Given the description of an element on the screen output the (x, y) to click on. 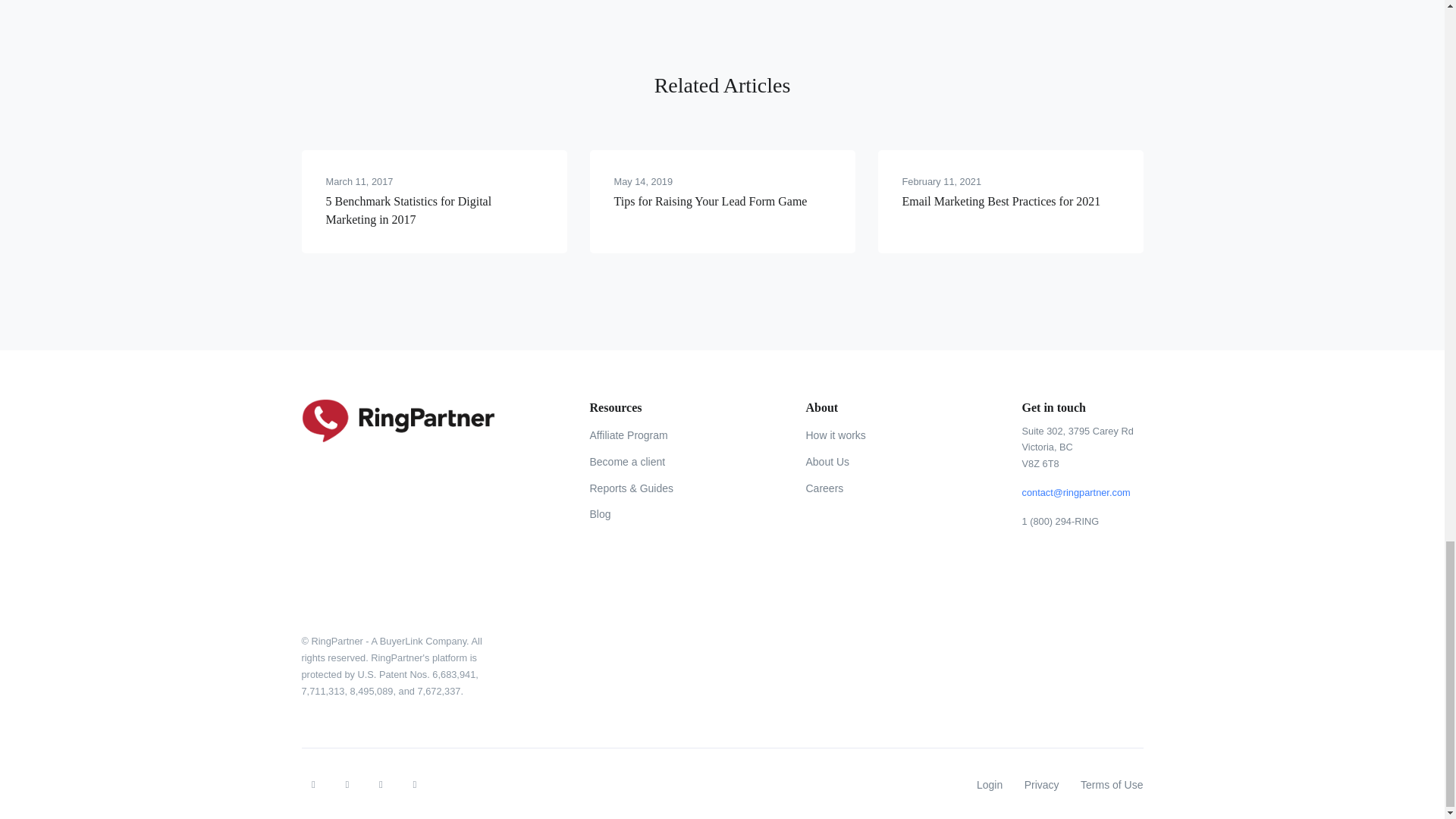
Facebook (313, 784)
Terms of Use (1111, 785)
Twitter (346, 784)
Instagram (380, 784)
LinkedIn (414, 784)
Login (989, 785)
Privacy (1042, 785)
